Given the description of an element on the screen output the (x, y) to click on. 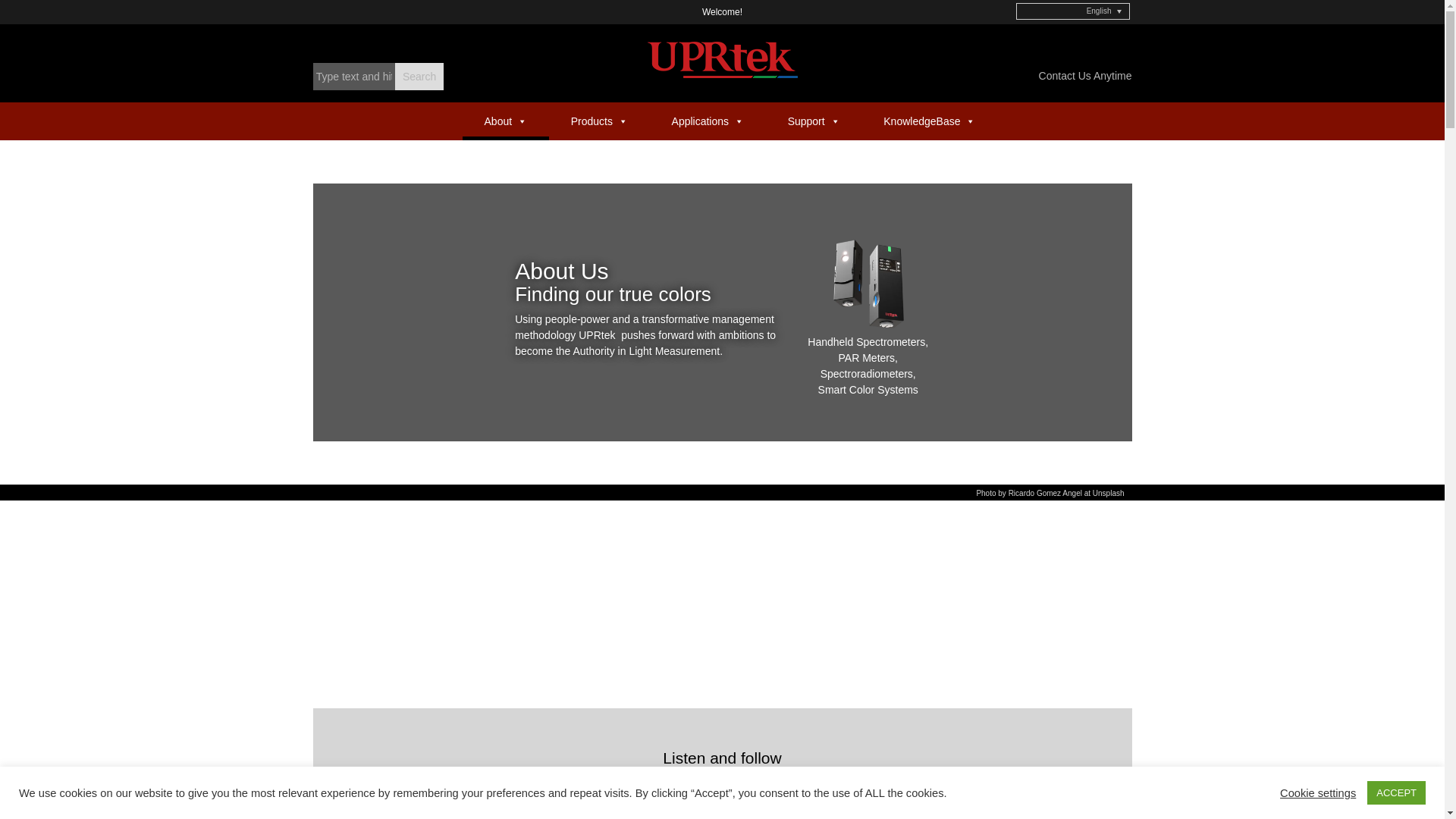
Contact Us Anytime (1085, 76)
About (505, 123)
Search (419, 76)
logo (721, 59)
English (1072, 11)
Search (419, 76)
Search (419, 76)
Products (598, 123)
